Given the description of an element on the screen output the (x, y) to click on. 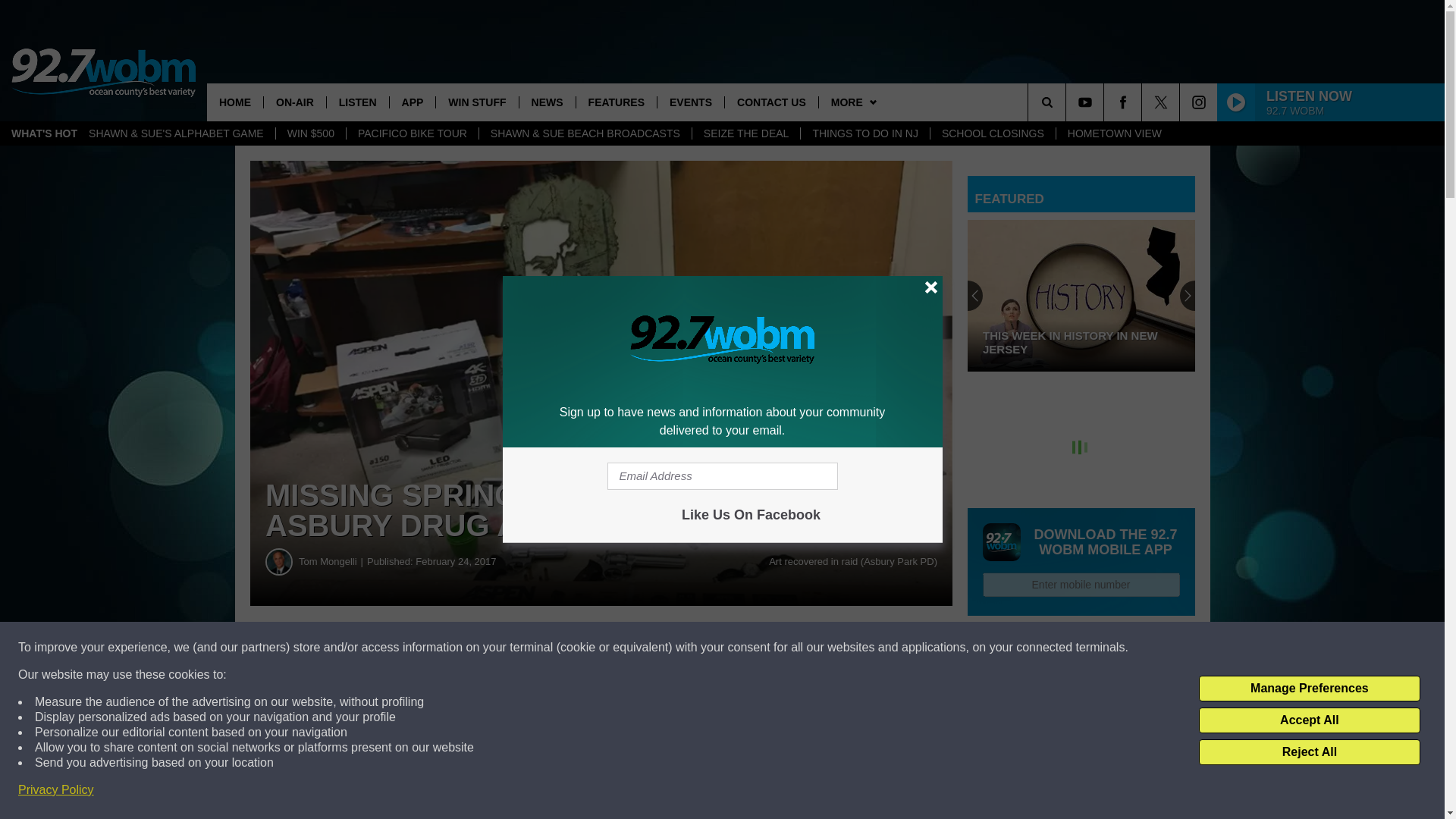
SEARCH (1068, 102)
THINGS TO DO IN NJ (864, 133)
ON-AIR (294, 102)
SEIZE THE DEAL (745, 133)
Accept All (1309, 720)
SCHOOL CLOSINGS (992, 133)
PACIFICO BIKE TOUR (412, 133)
Reject All (1309, 751)
Manage Preferences (1309, 688)
LISTEN (357, 102)
Share on Facebook (460, 647)
Privacy Policy (55, 789)
HOME (234, 102)
APP (411, 102)
Share on Twitter (741, 647)
